Given the description of an element on the screen output the (x, y) to click on. 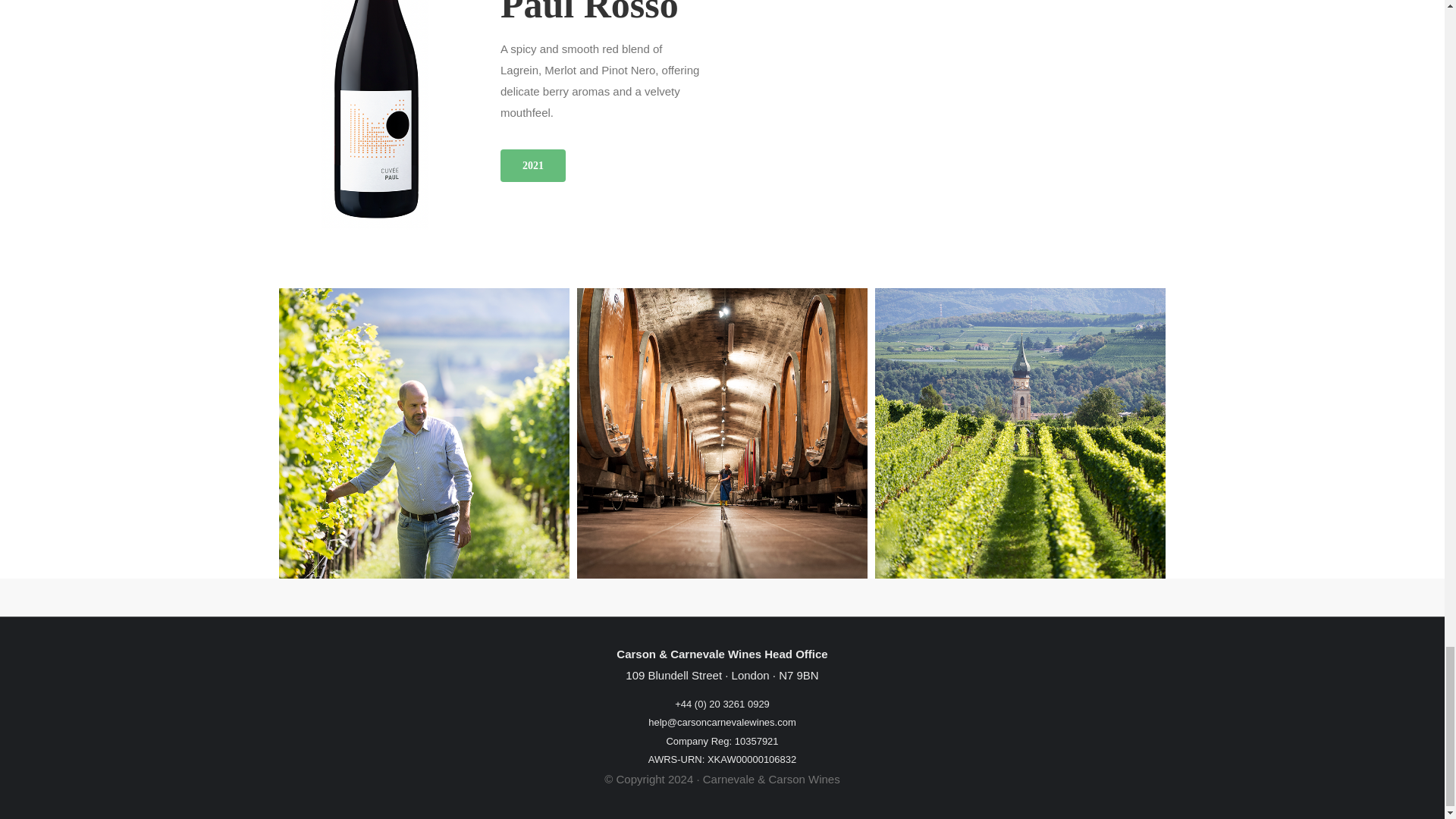
London (751, 675)
109 Blundell Street (674, 675)
2021 (533, 165)
N7 9BN (798, 675)
